Given the description of an element on the screen output the (x, y) to click on. 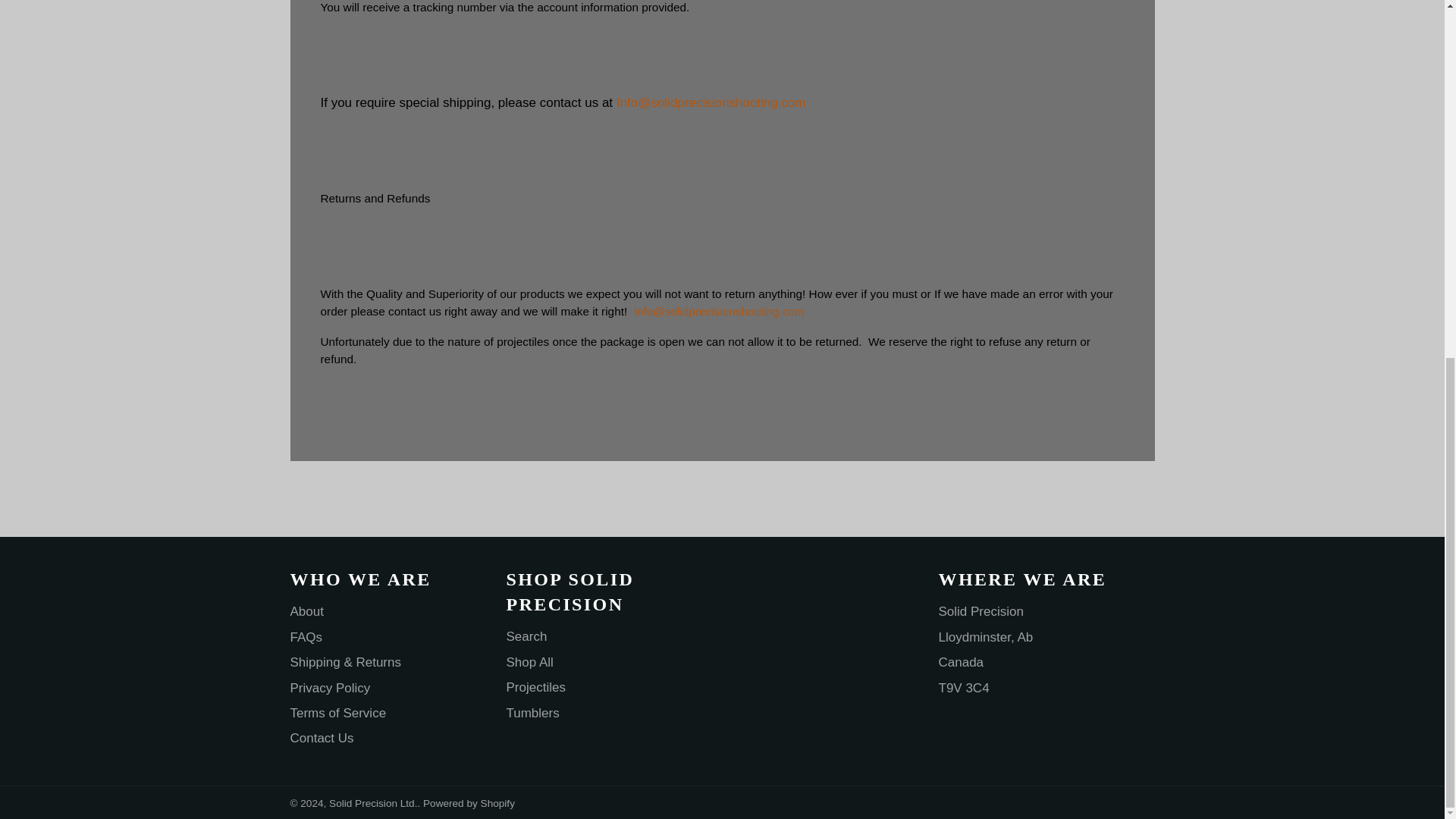
Terms of Service (337, 712)
Contact Us (321, 738)
About (306, 611)
FAQs (305, 636)
Privacy Policy (329, 687)
Search (526, 636)
Shop All (529, 662)
Projectiles (536, 687)
